Given the description of an element on the screen output the (x, y) to click on. 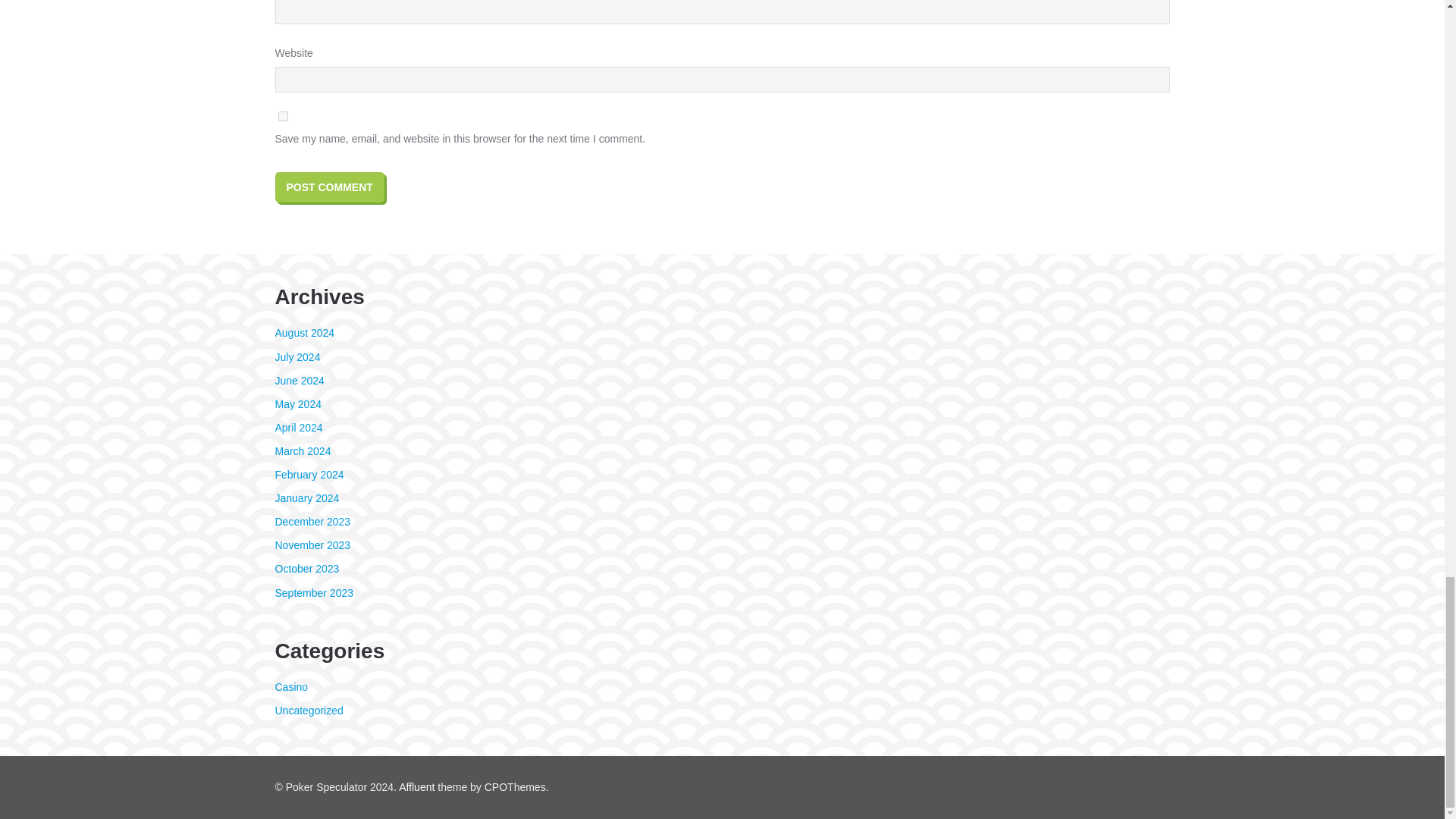
yes (282, 116)
February 2024 (309, 474)
December 2023 (312, 521)
September 2023 (314, 592)
August 2024 (304, 332)
November 2023 (312, 544)
May 2024 (297, 404)
Affluent (415, 787)
June 2024 (299, 380)
October 2023 (307, 568)
